Given the description of an element on the screen output the (x, y) to click on. 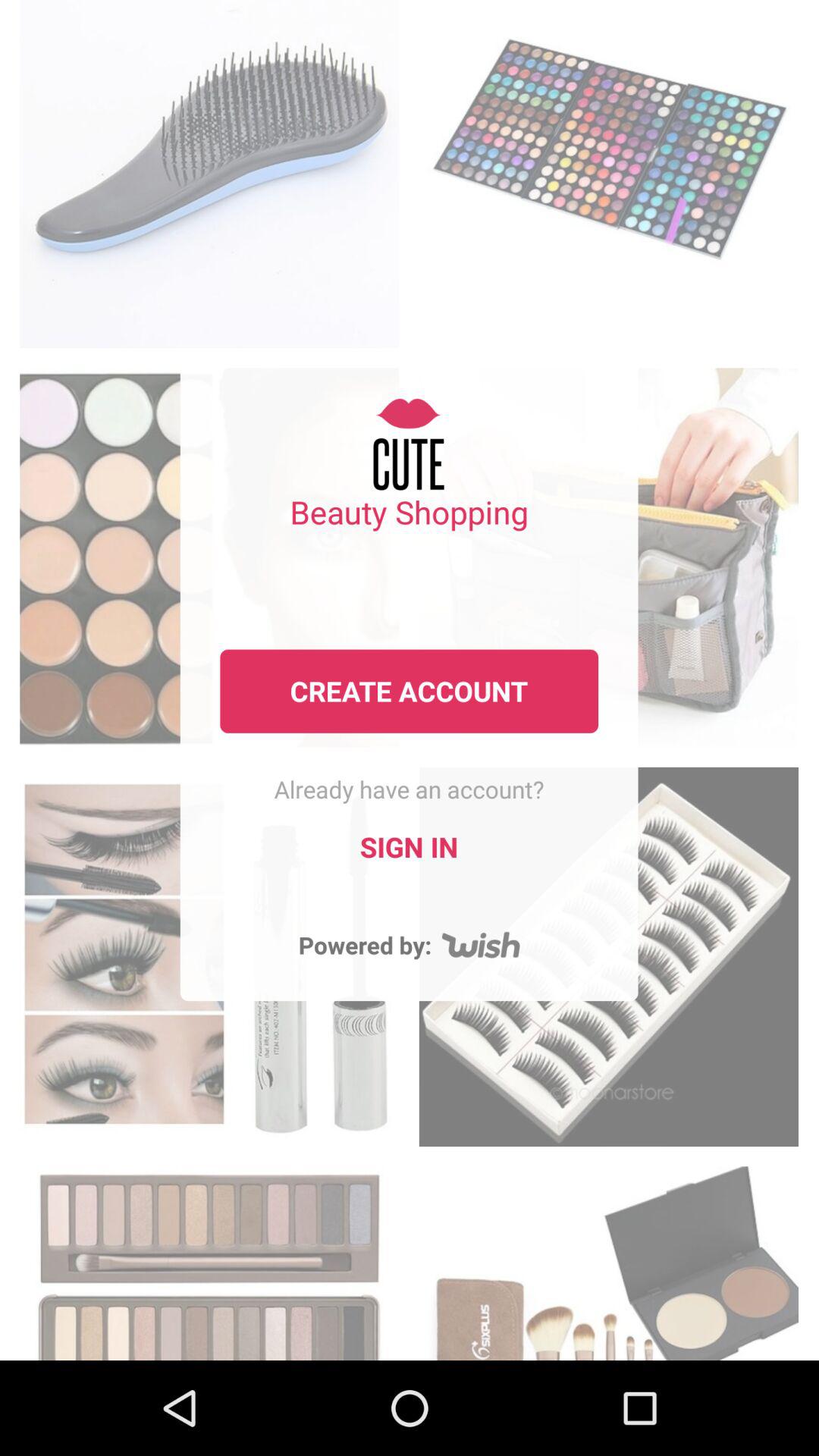
go to the page (209, 1258)
